Given the description of an element on the screen output the (x, y) to click on. 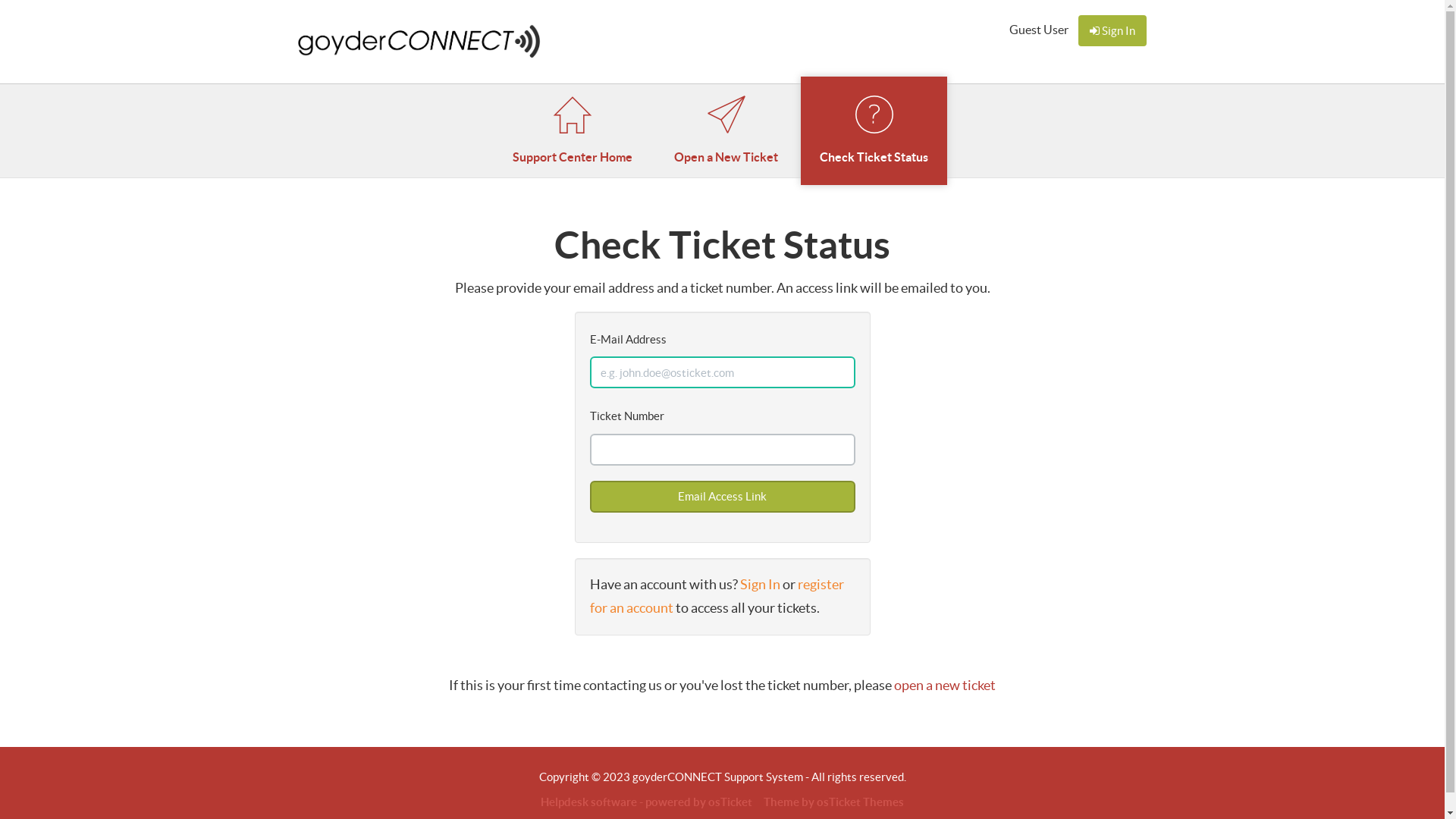
Email Access Link Element type: text (722, 496)
Open a New Ticket Element type: text (726, 130)
Sign In Element type: text (760, 584)
Check Ticket Status Element type: text (873, 130)
Helpdesk software - powered by osTicket Element type: text (646, 801)
Support Center Element type: hover (418, 41)
Support Center Home Element type: text (572, 130)
open a new ticket Element type: text (944, 685)
Theme by osTicket Themes Element type: text (833, 801)
Sign In Element type: text (1112, 30)
register for an account Element type: text (716, 595)
